Given the description of an element on the screen output the (x, y) to click on. 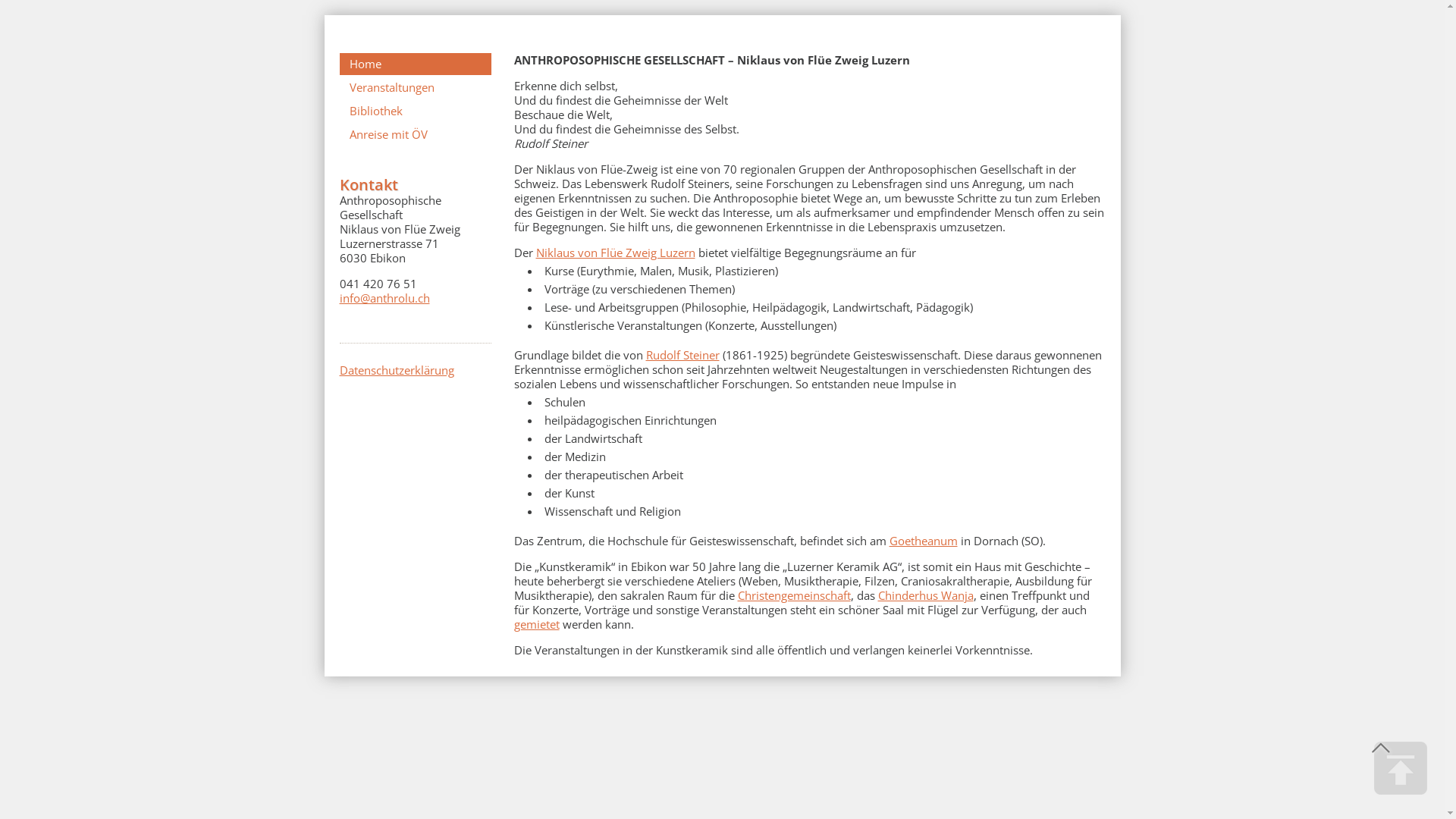
Goetheanum Element type: text (922, 540)
info@anthrolu.ch Element type: text (384, 297)
Bibliothek Element type: text (415, 111)
Christengemeinschaft Element type: text (793, 594)
Rudolf Steiner Element type: text (682, 354)
gemietet Element type: text (536, 623)
Chinderhus Wanja Element type: text (925, 594)
Home Element type: text (415, 64)
Veranstaltungen Element type: text (415, 87)
